Given the description of an element on the screen output the (x, y) to click on. 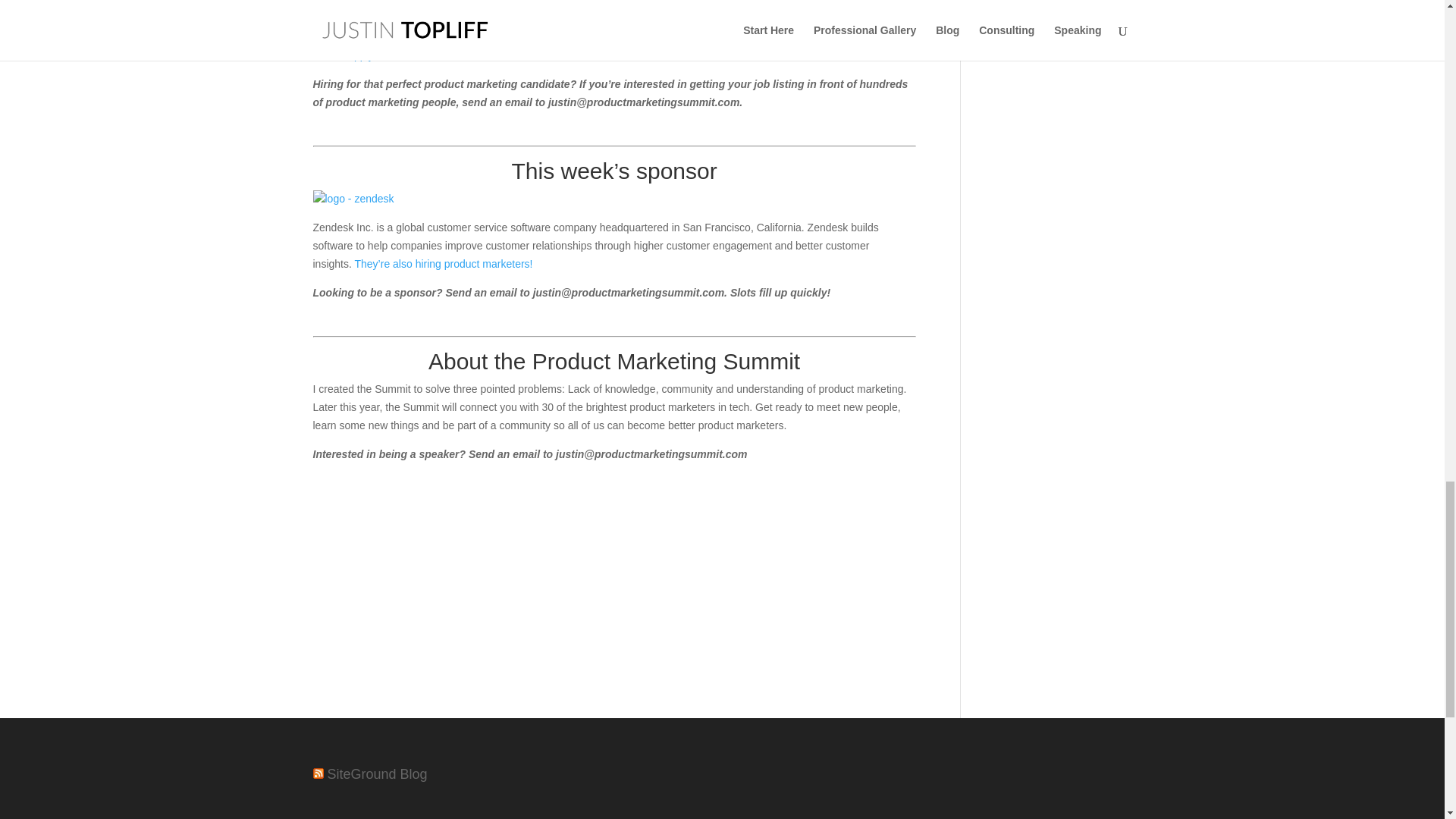
Product Marketing Summit (665, 360)
Please apply here (355, 55)
